Given the description of an element on the screen output the (x, y) to click on. 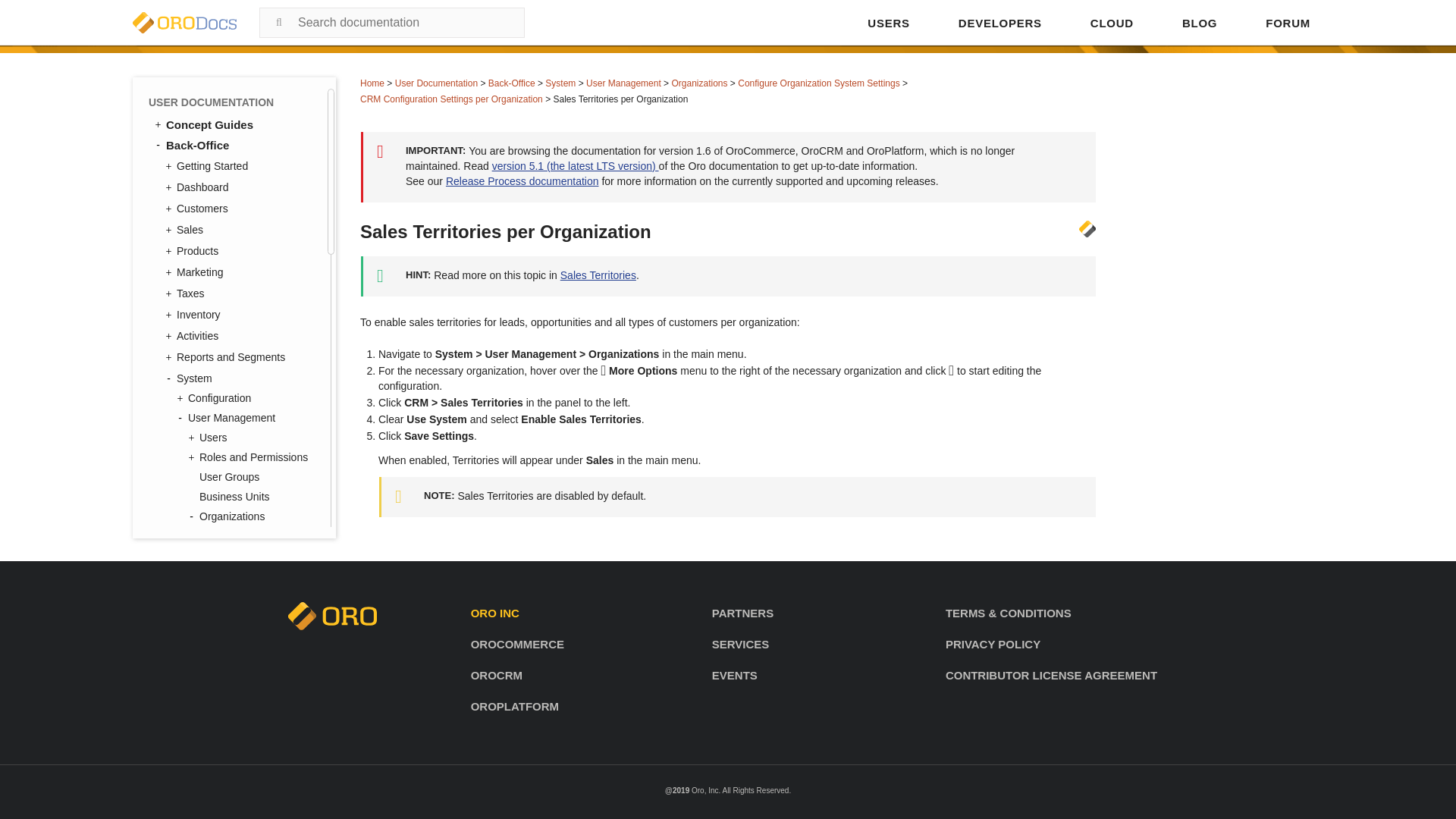
Organizations (698, 83)
Back-Office (511, 83)
FORUM (1288, 22)
USER DOCUMENTATION (233, 101)
Configure Organization System Settings (818, 83)
DEVELOPERS (999, 22)
BLOG (1199, 22)
Concept Guides (235, 124)
User Documentation (435, 83)
System (559, 83)
